Given the description of an element on the screen output the (x, y) to click on. 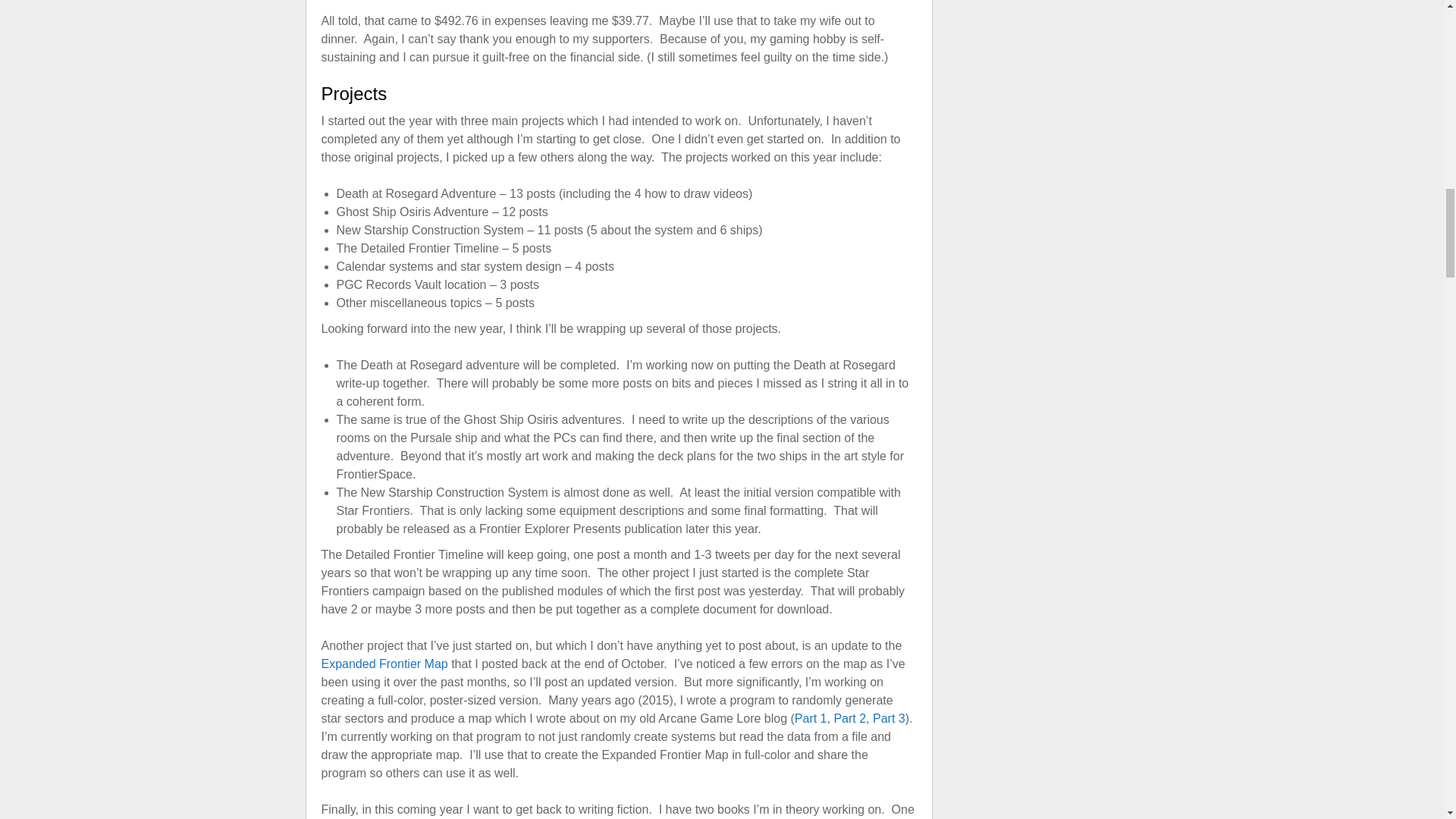
Part 3 (888, 717)
Part 1 (810, 717)
Expanded Frontier Map (384, 663)
Part 2 (849, 717)
